Given the description of an element on the screen output the (x, y) to click on. 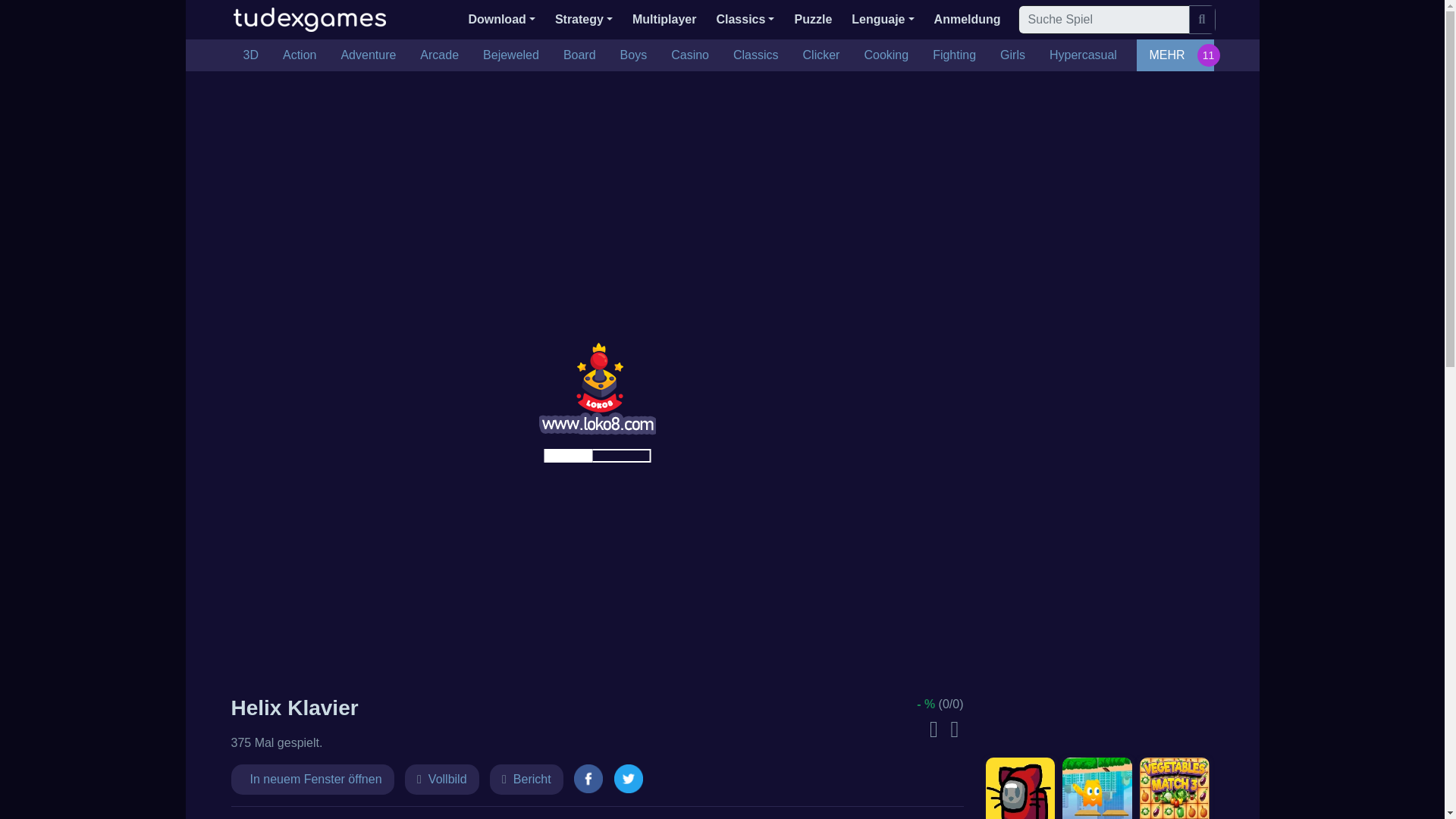
Casino (689, 55)
Hypercasual (1082, 55)
Cooking (885, 55)
Strategy (583, 19)
MEHR (1174, 55)
Fighting (954, 55)
Advertisement (1096, 423)
Puzzle (812, 19)
3D (249, 55)
Arcade (438, 55)
Classics (745, 19)
Anmeldung (967, 19)
Multiplayer (663, 19)
Advertisement (1096, 643)
Girls (1012, 55)
